Given the description of an element on the screen output the (x, y) to click on. 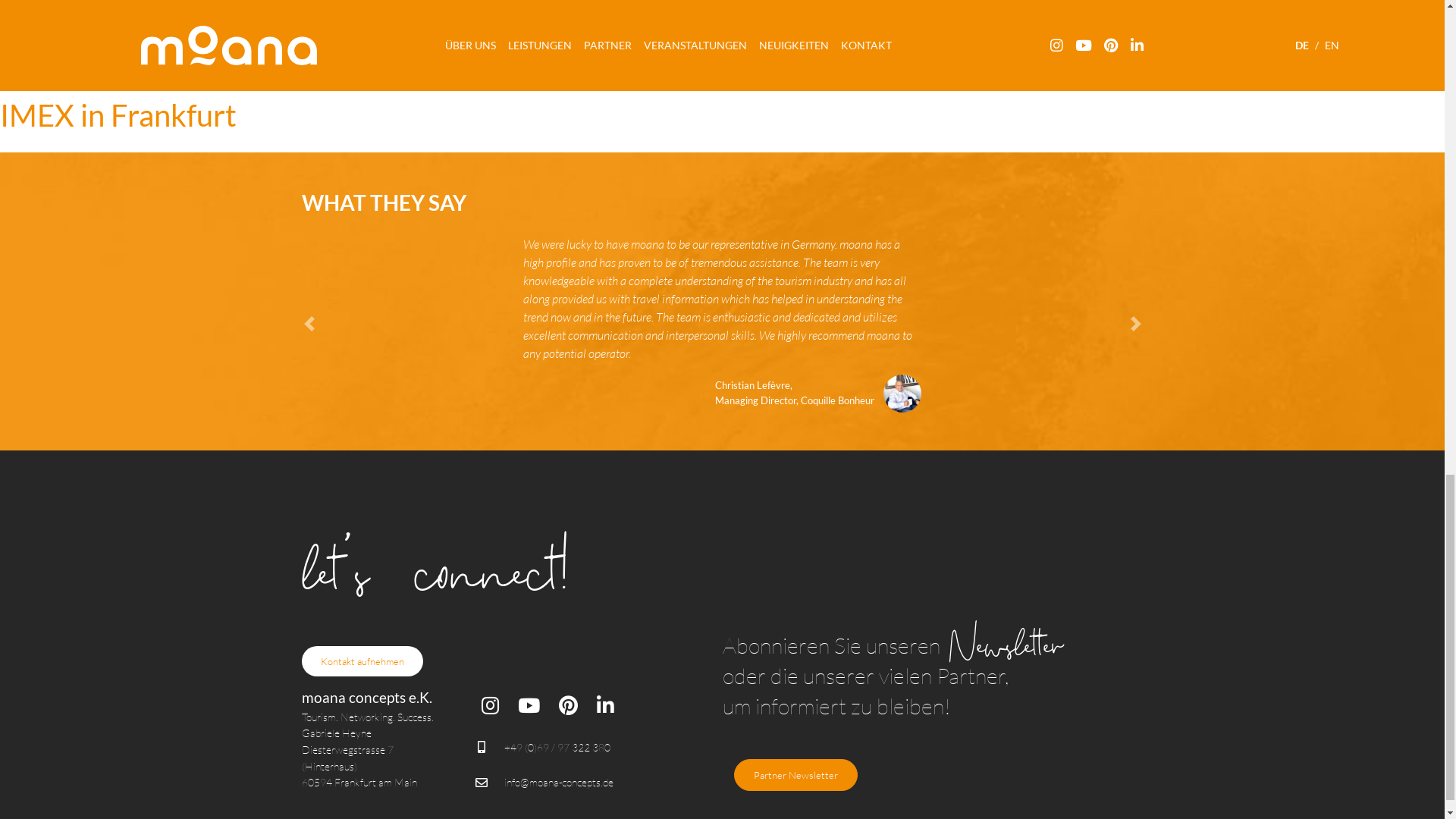
ITB Berlin (66, 11)
IMEX in Frankfurt (117, 115)
Vor (1079, 323)
Kontakt aufnehmen (362, 661)
